Given the description of an element on the screen output the (x, y) to click on. 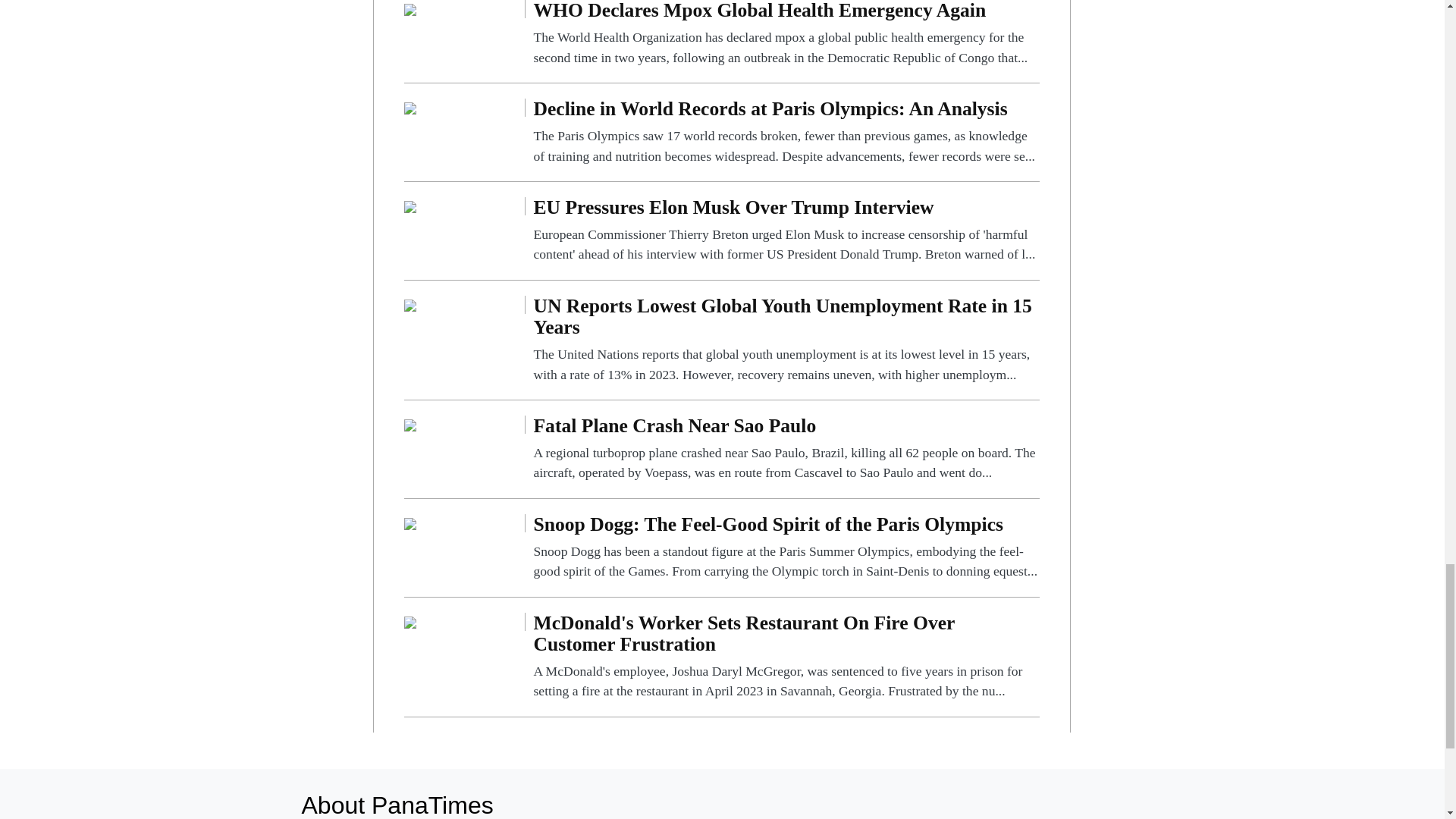
EU Pressures Elon Musk Over Trump Interview (785, 230)
Fatal Plane Crash Near Sao Paulo (785, 449)
Decline in World Records at Paris Olympics: An Analysis (410, 106)
Fatal Plane Crash Near Sao Paulo (410, 423)
WHO Declares Mpox Global Health Emergency Again (785, 33)
UN Reports Lowest Global Youth Unemployment Rate in 15 Years (785, 339)
Decline in World Records at Paris Olympics: An Analysis (785, 132)
UN Reports Lowest Global Youth Unemployment Rate in 15 Years (410, 304)
